Given the description of an element on the screen output the (x, y) to click on. 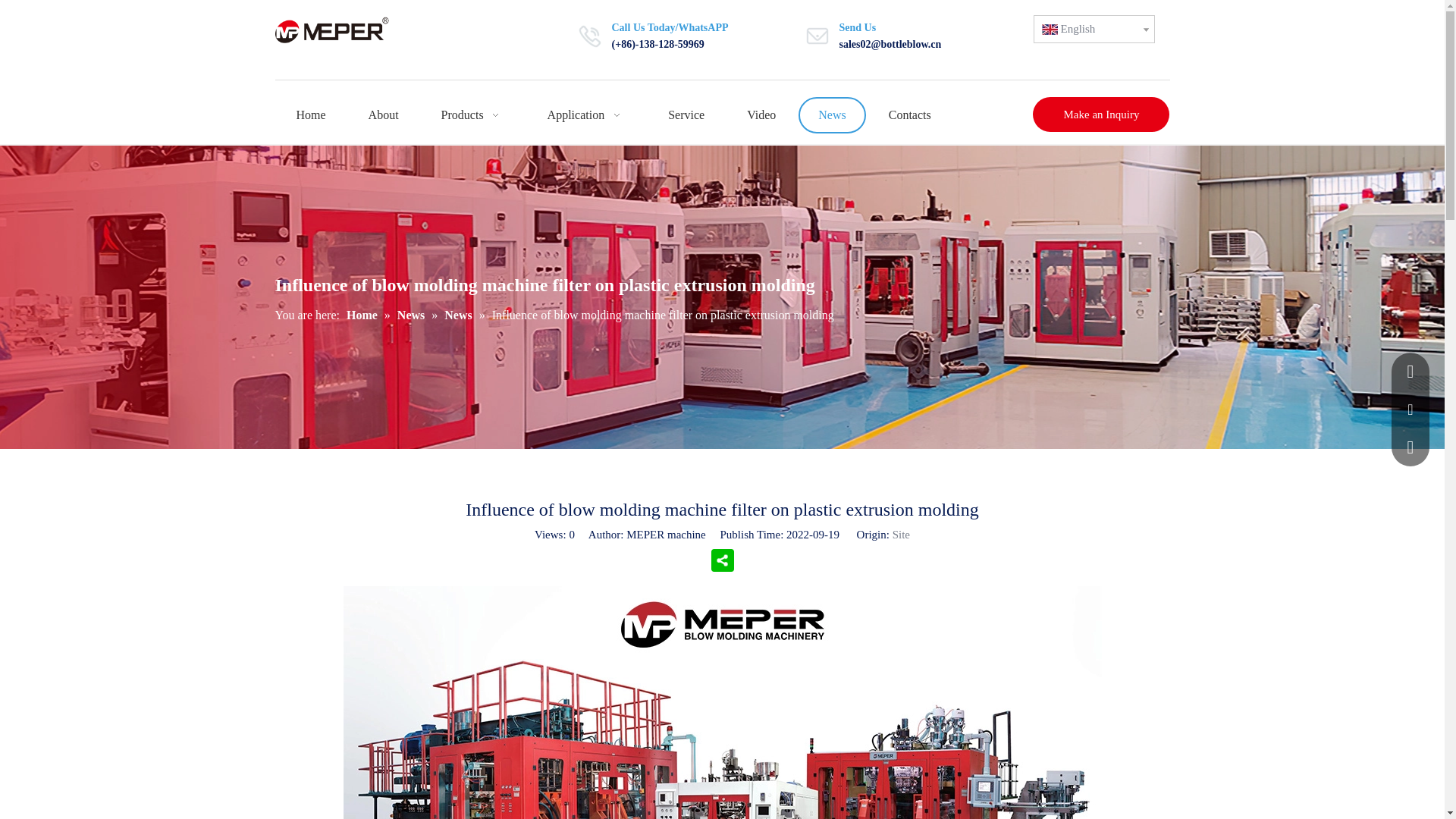
News (830, 115)
Service (685, 115)
Meper-logo (342, 30)
Application   (586, 115)
Products   (473, 115)
Make an Inquiry (1100, 114)
About (384, 115)
Video (760, 115)
Contacts (909, 115)
Home (310, 115)
